Given the description of an element on the screen output the (x, y) to click on. 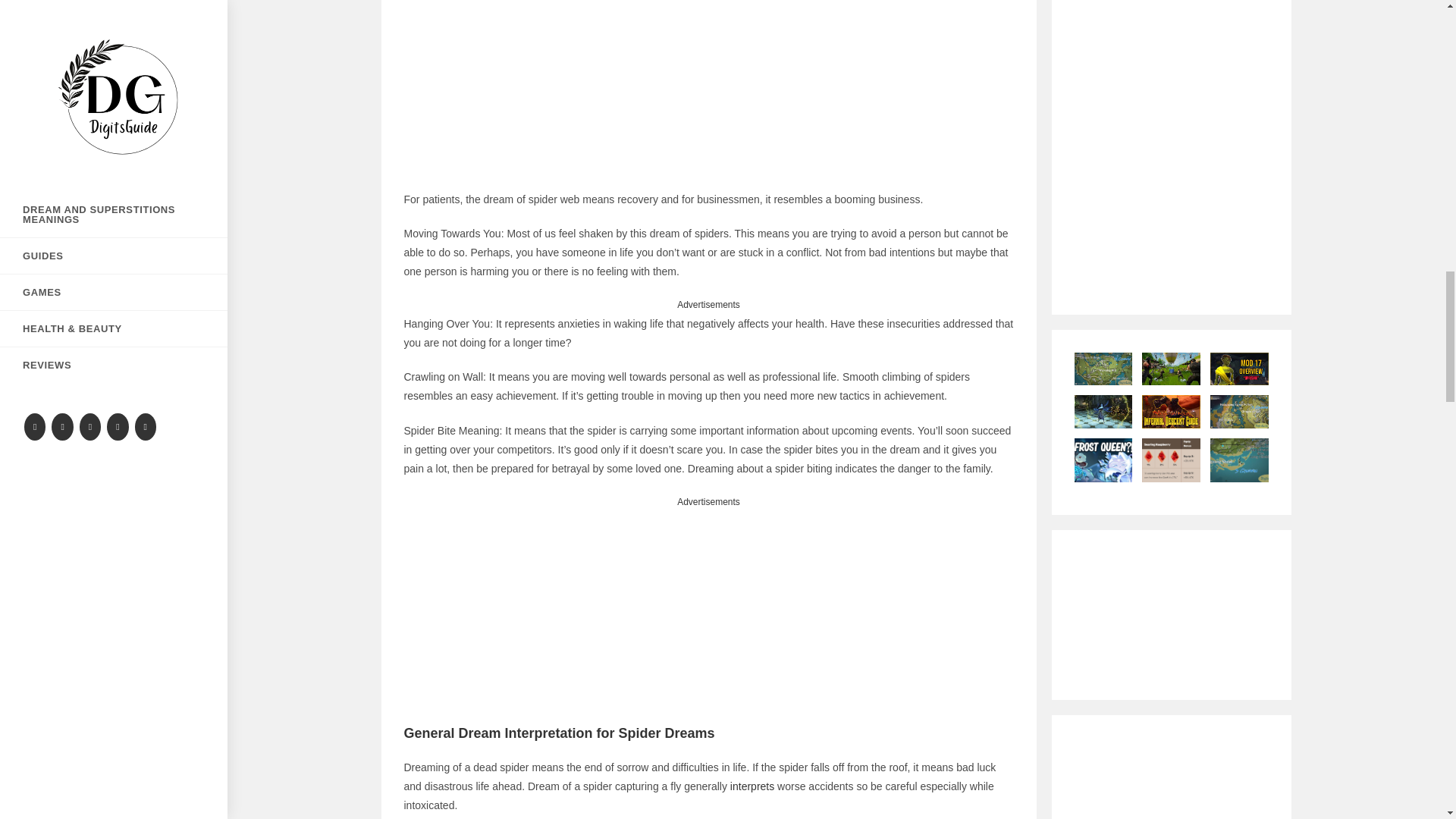
interprets (753, 786)
Advertisement (708, 95)
Advertisement (708, 617)
